Given the description of an element on the screen output the (x, y) to click on. 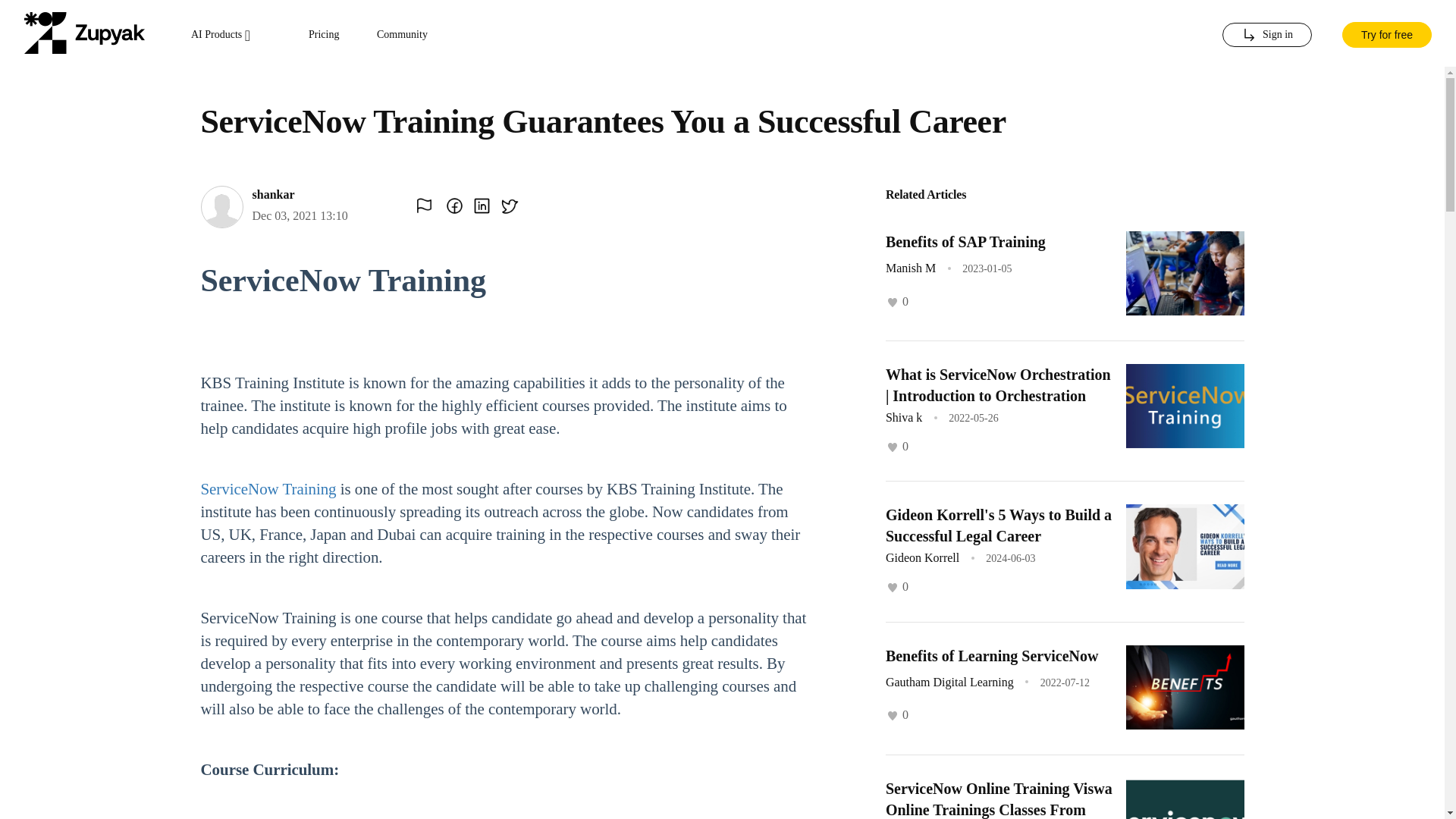
Pricing (323, 34)
 Sign in (1267, 34)
ServiceNow Training (268, 488)
Benefits of Learning ServiceNow (992, 655)
Benefits of Learning ServiceNow (992, 655)
Gideon Korrell's 5 Ways to Build a Successful Legal Career (998, 525)
Benefits of SAP Training (965, 241)
Community (402, 34)
Benefits of SAP Training  (965, 241)
Gideon Korrell's 5 Ways to Build a Successful Legal Career (998, 525)
